Given the description of an element on the screen output the (x, y) to click on. 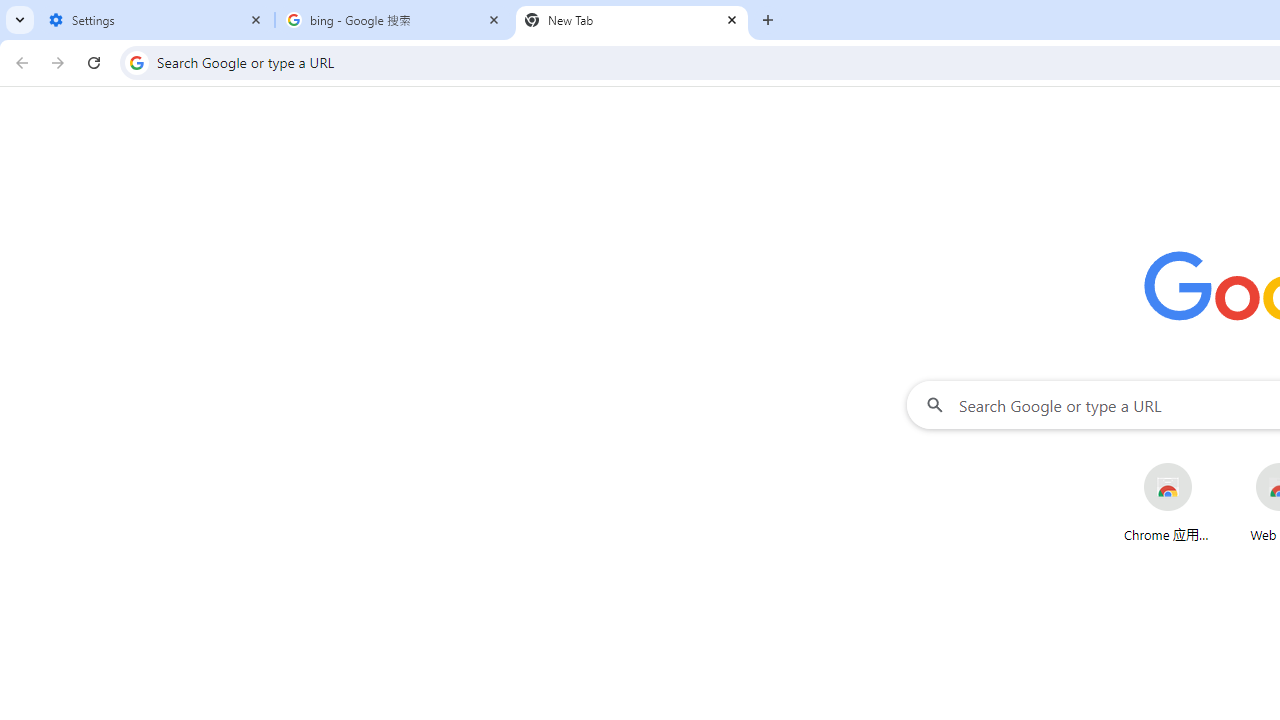
Settings (156, 20)
New Tab (632, 20)
Search icon (136, 62)
